Given the description of an element on the screen output the (x, y) to click on. 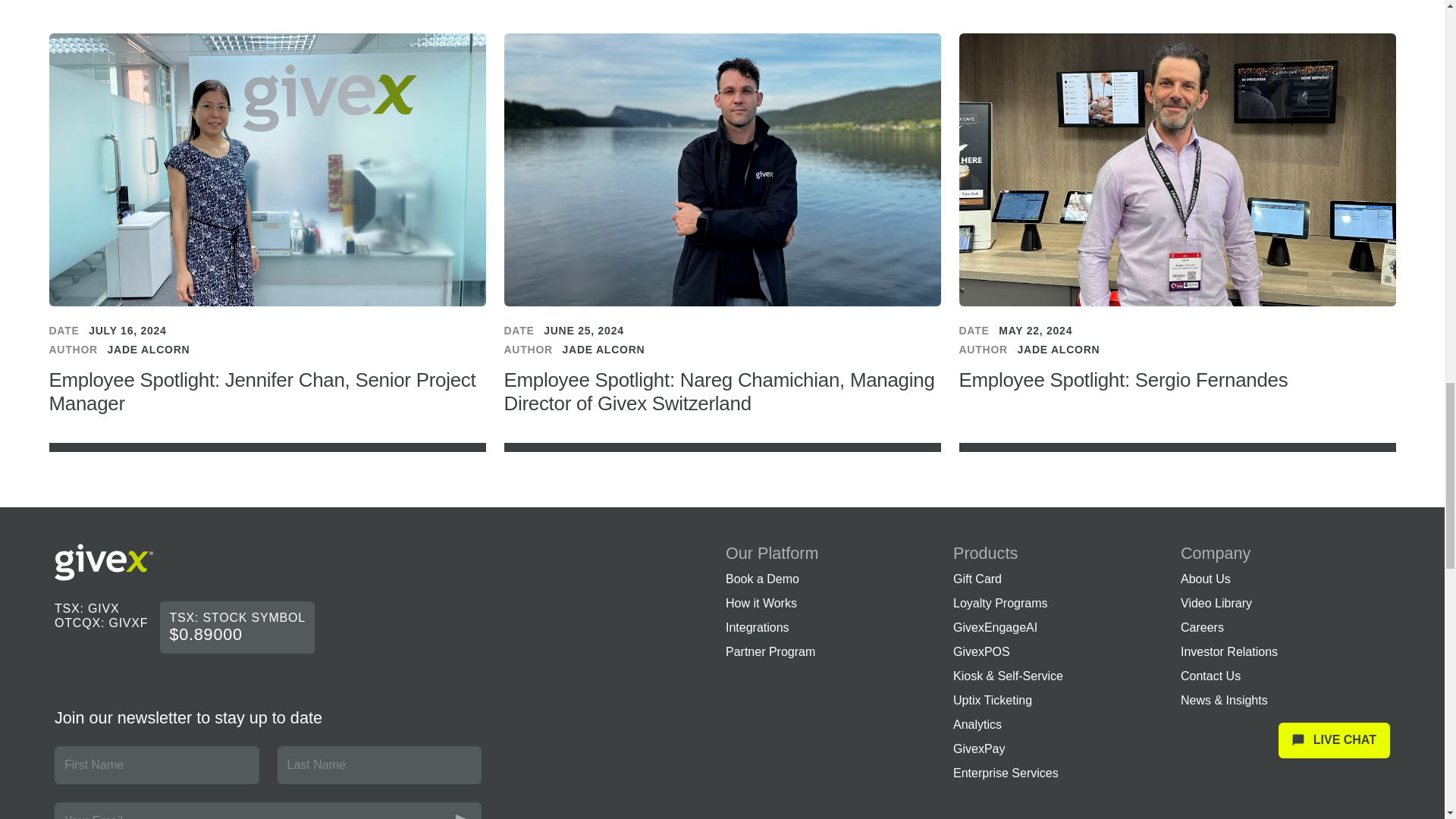
Go to homepage (103, 563)
